Given the description of an element on the screen output the (x, y) to click on. 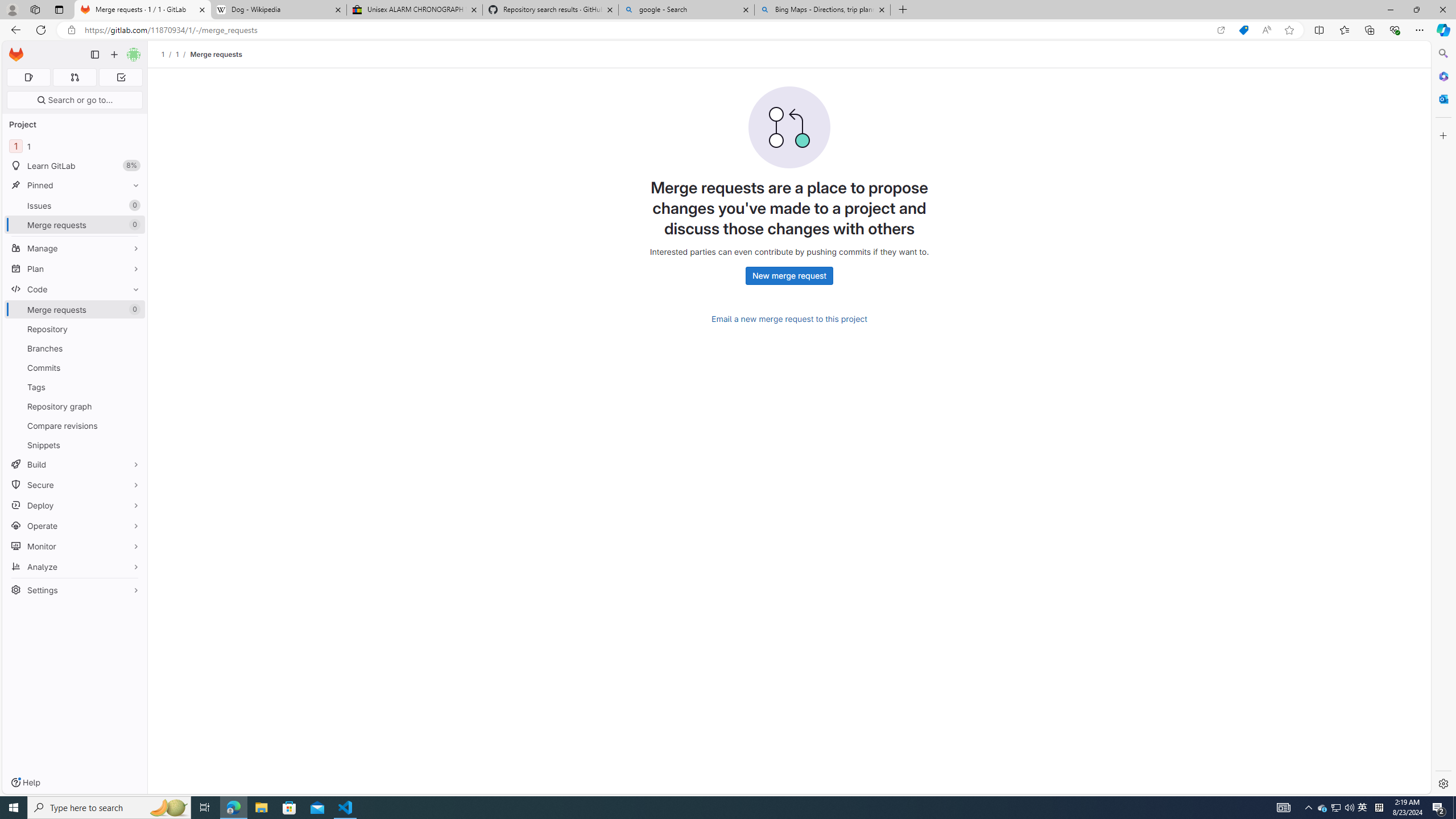
Snippets (74, 444)
Secure (74, 484)
Deploy (74, 505)
Pin Repository graph (132, 406)
Unpin Issues (132, 205)
Repository (74, 328)
Commits (74, 367)
Email a new merge request to this project (789, 319)
Repository (74, 328)
